Given the description of an element on the screen output the (x, y) to click on. 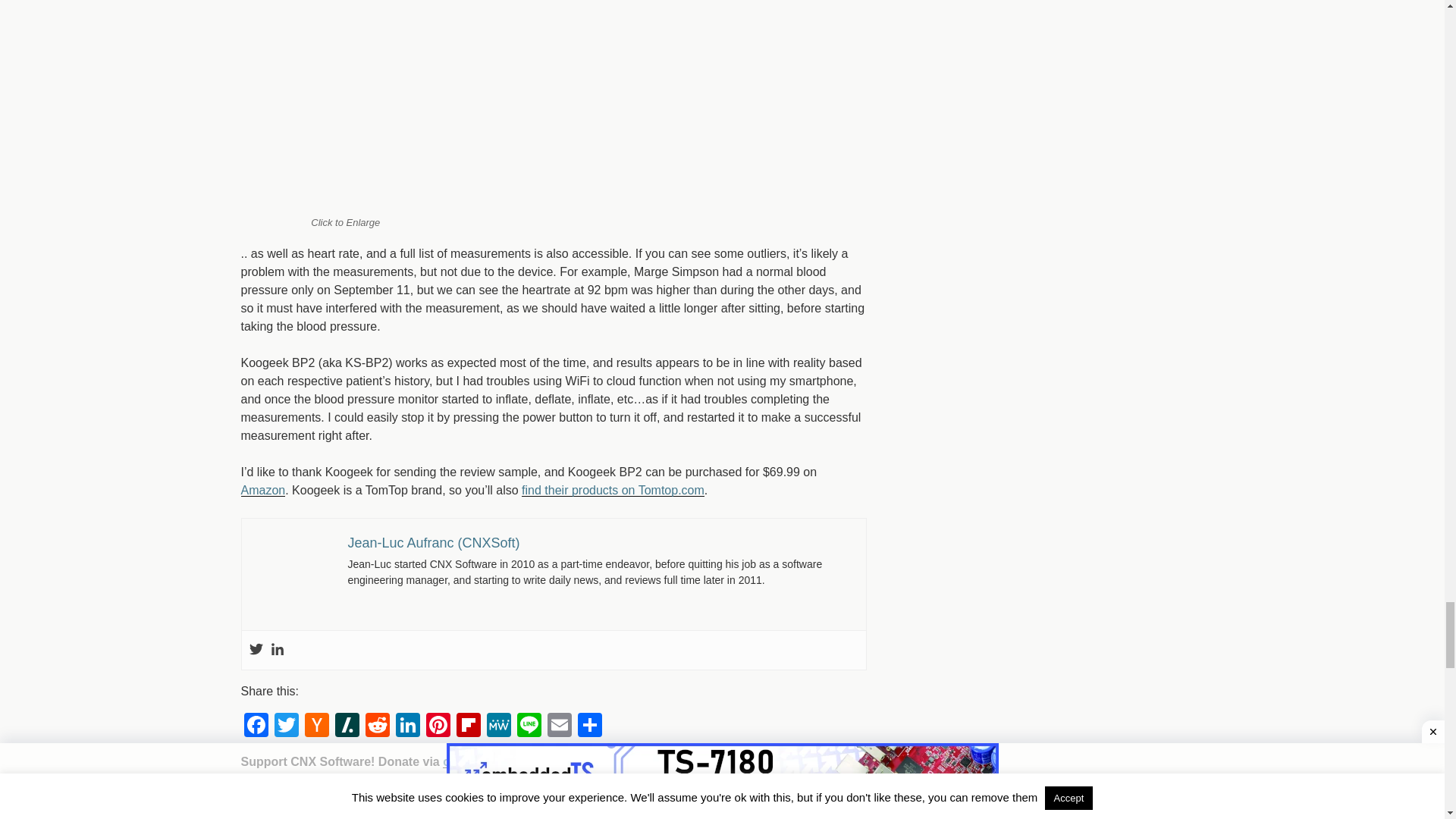
Linkedin (276, 650)
Email (559, 726)
Hacker News (316, 726)
MeWe (498, 726)
Pinterest (437, 726)
Line (528, 726)
Twitter (255, 650)
Twitter (285, 726)
Flipboard (467, 726)
Facebook (255, 726)
Reddit (377, 726)
LinkedIn (408, 726)
Slashdot (346, 726)
